Given the description of an element on the screen output the (x, y) to click on. 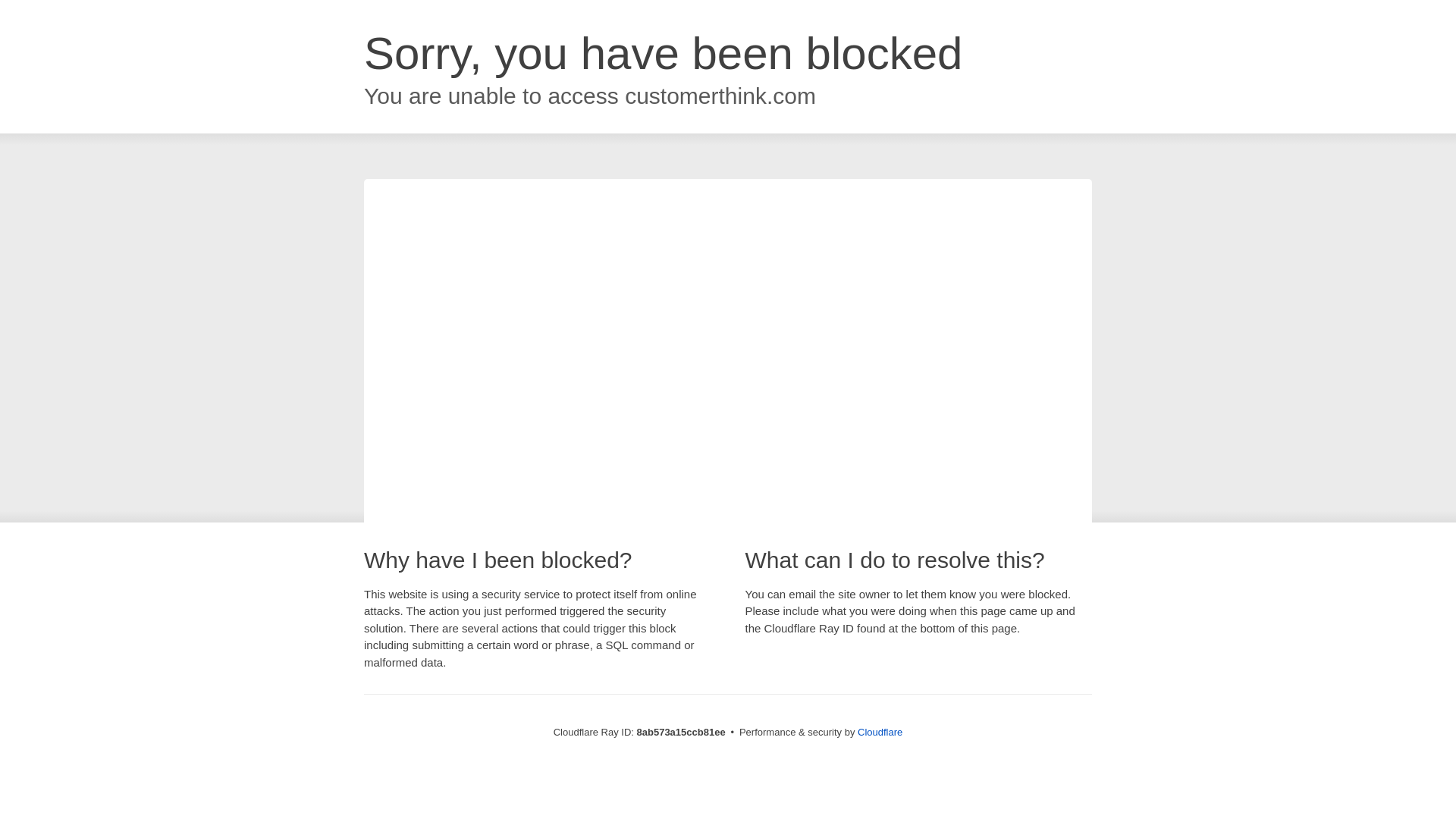
Cloudflare (879, 731)
